Given the description of an element on the screen output the (x, y) to click on. 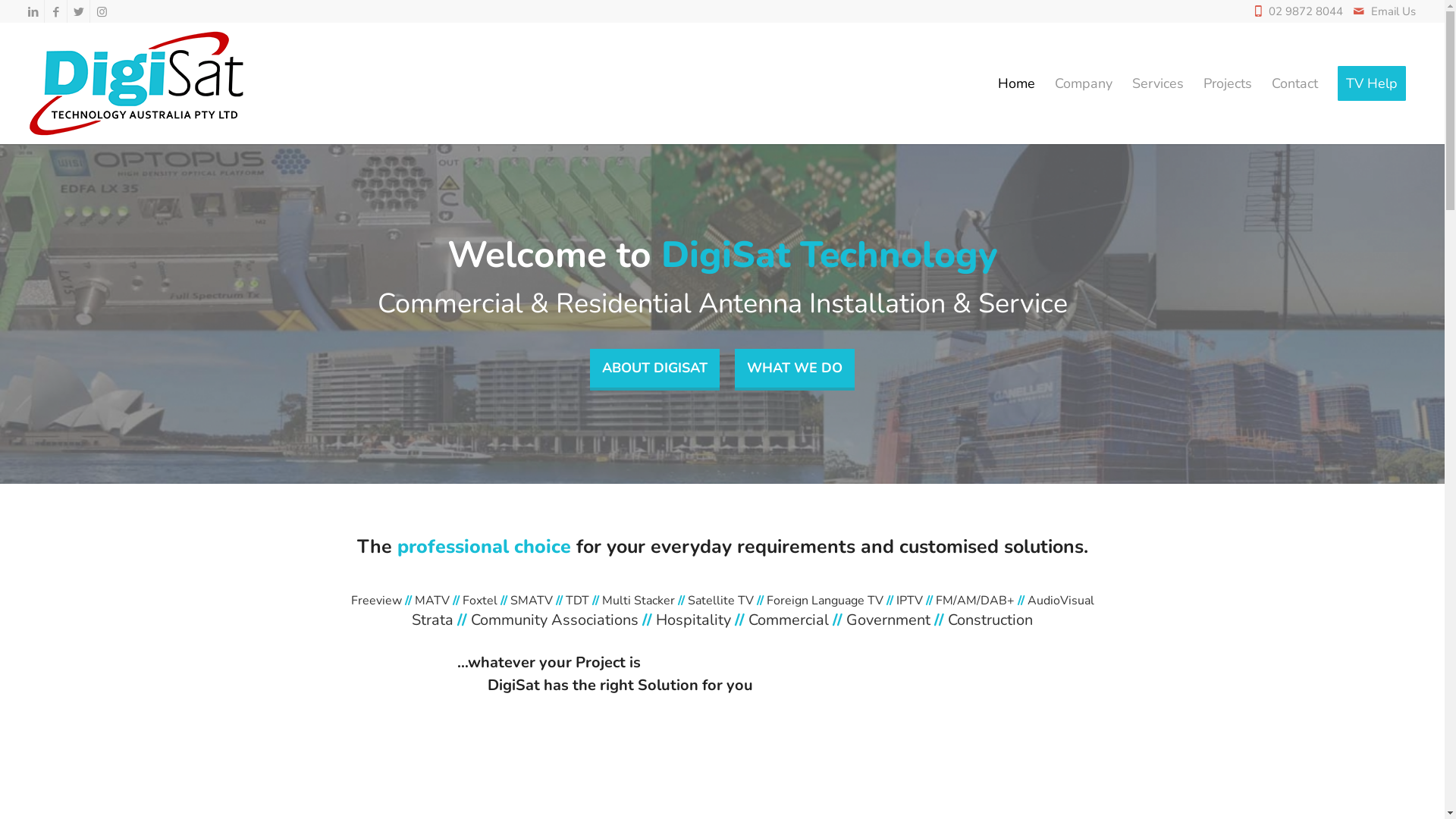
TV Help Element type: text (1371, 83)
WHAT WE DO Element type: text (794, 369)
Services Element type: text (1157, 83)
Company Element type: text (1083, 83)
Digisat-Logo Element type: hover (137, 83)
LinkedIn Element type: hover (32, 11)
Projects Element type: text (1227, 83)
Twitter Element type: hover (78, 11)
Home Element type: text (1016, 83)
ABOUT DIGISAT Element type: text (654, 369)
Facebook Element type: hover (55, 11)
02 9872 8044 Element type: text (1309, 10)
Contact Element type: text (1294, 83)
Email Us Element type: text (1393, 10)
Main2 Element type: hover (722, 313)
Instagram Element type: hover (101, 11)
